Given the description of an element on the screen output the (x, y) to click on. 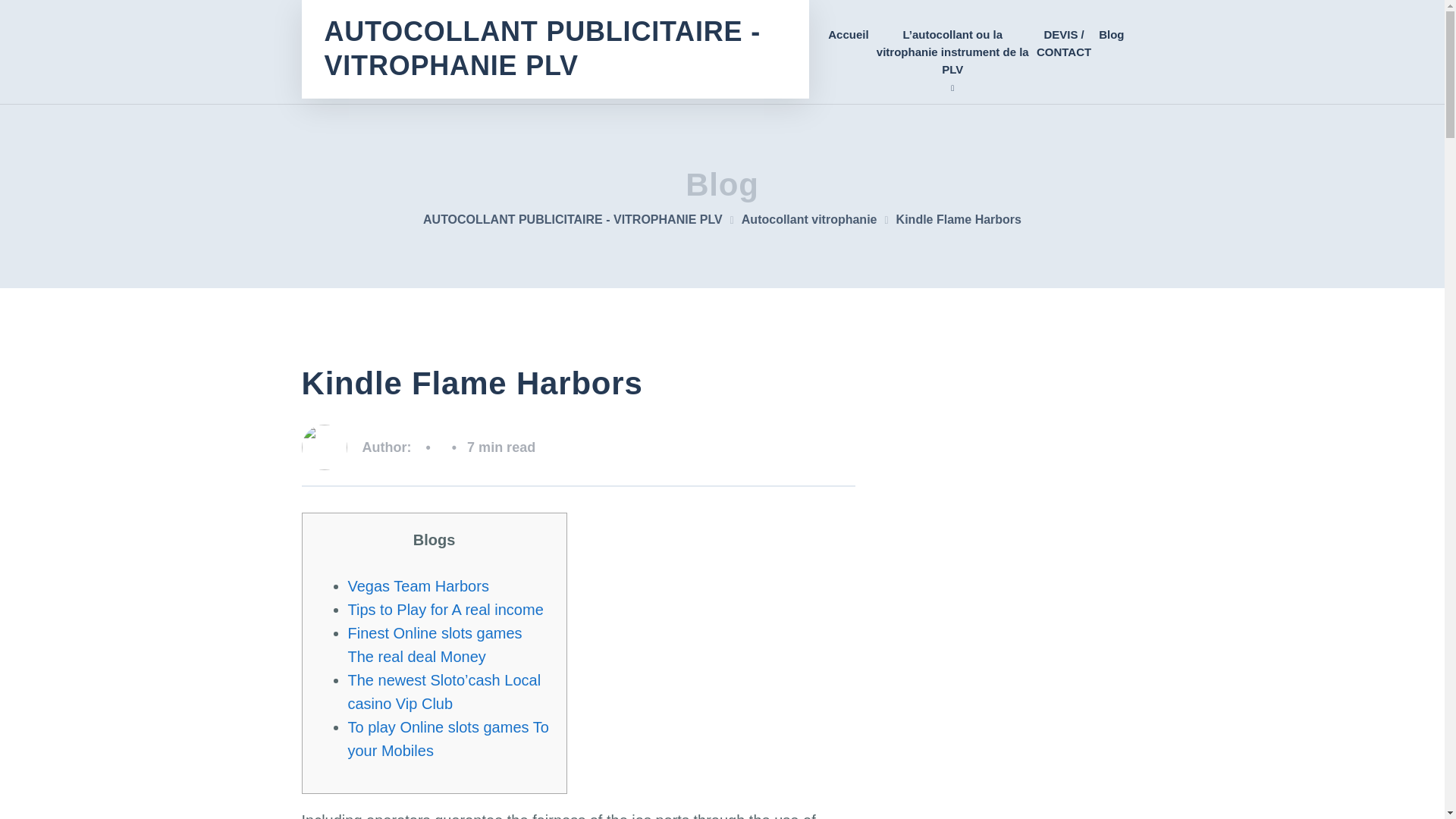
Vegas Team Harbors (417, 586)
Tips to Play for A real income (445, 609)
Go to AUTOCOLLANT PUBLICITAIRE - VITROPHANIE PLV. (582, 219)
Finest Online slots games The real deal Money (434, 644)
To play Online slots games To your Mobiles (447, 739)
Autocollant vitrophanie (818, 219)
bold (952, 52)
AUTOCOLLANT PUBLICITAIRE - VITROPHANIE PLV (582, 219)
AUTOCOLLANT PUBLICITAIRE - VITROPHANIE PLV (555, 49)
